Given the description of an element on the screen output the (x, y) to click on. 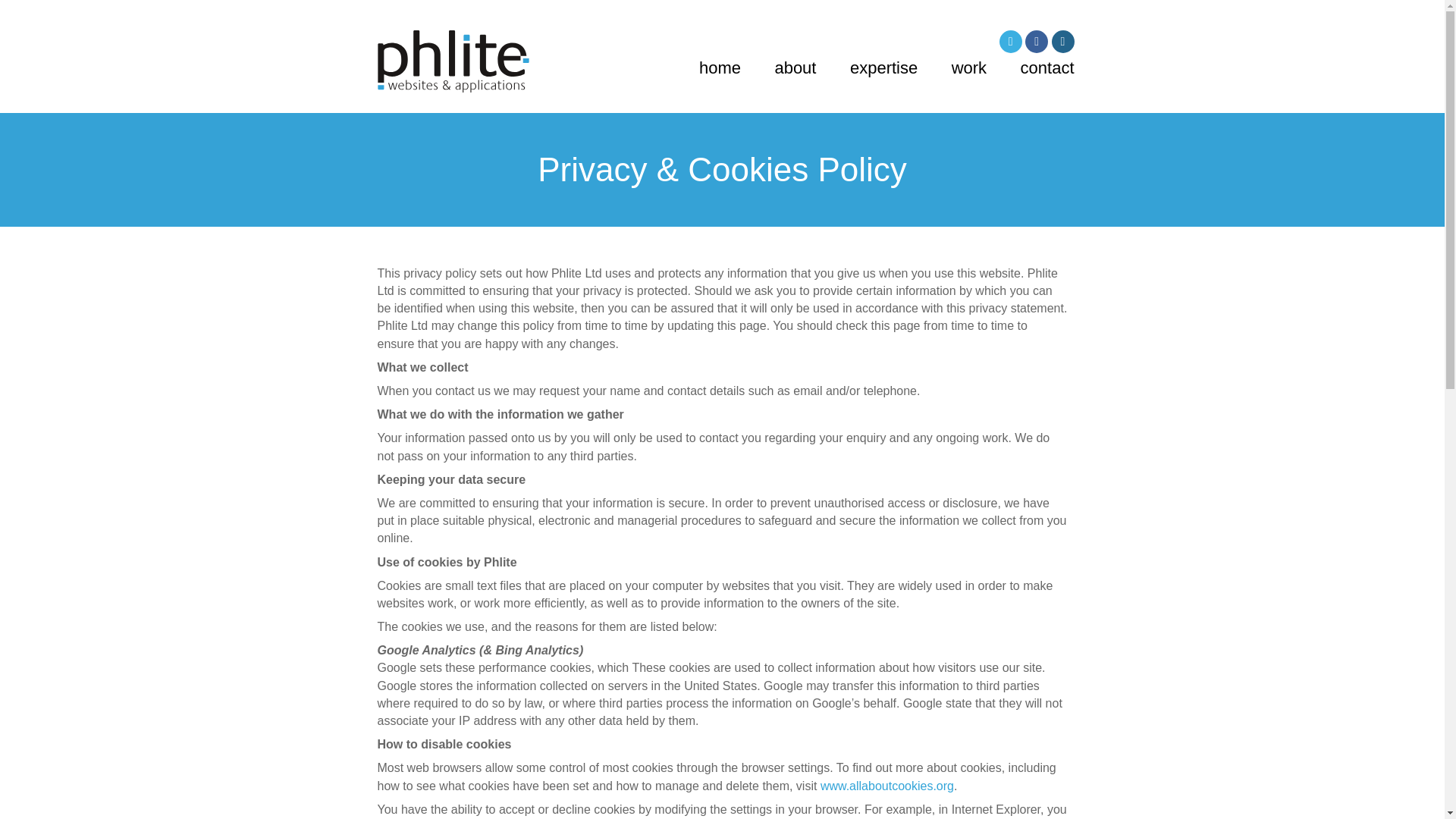
home (719, 67)
www.allaboutcookies.org (887, 785)
about (794, 67)
expertise (883, 67)
contact (1047, 67)
work (969, 67)
